Given the description of an element on the screen output the (x, y) to click on. 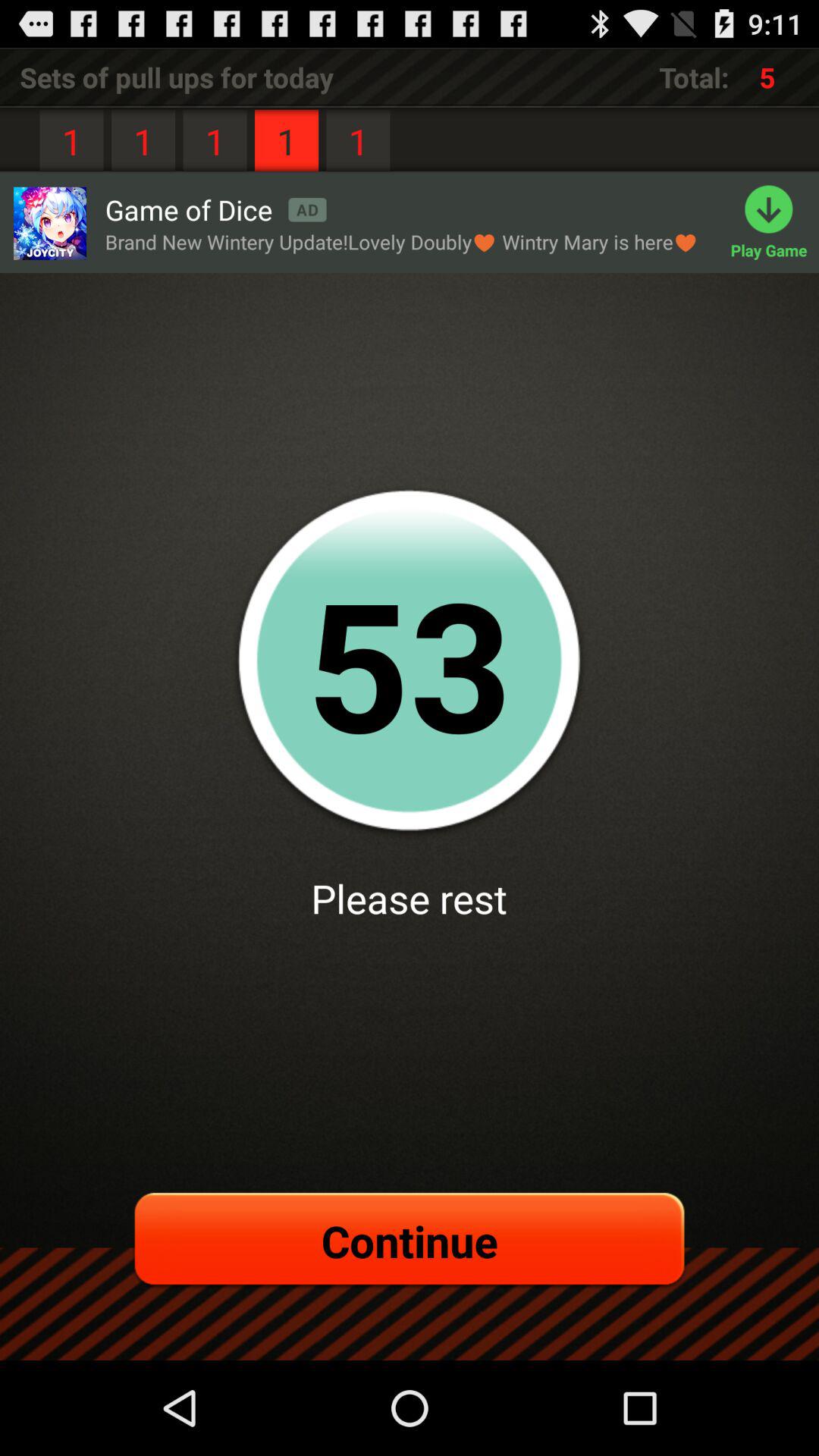
launch the app next to game of dice item (49, 222)
